Given the description of an element on the screen output the (x, y) to click on. 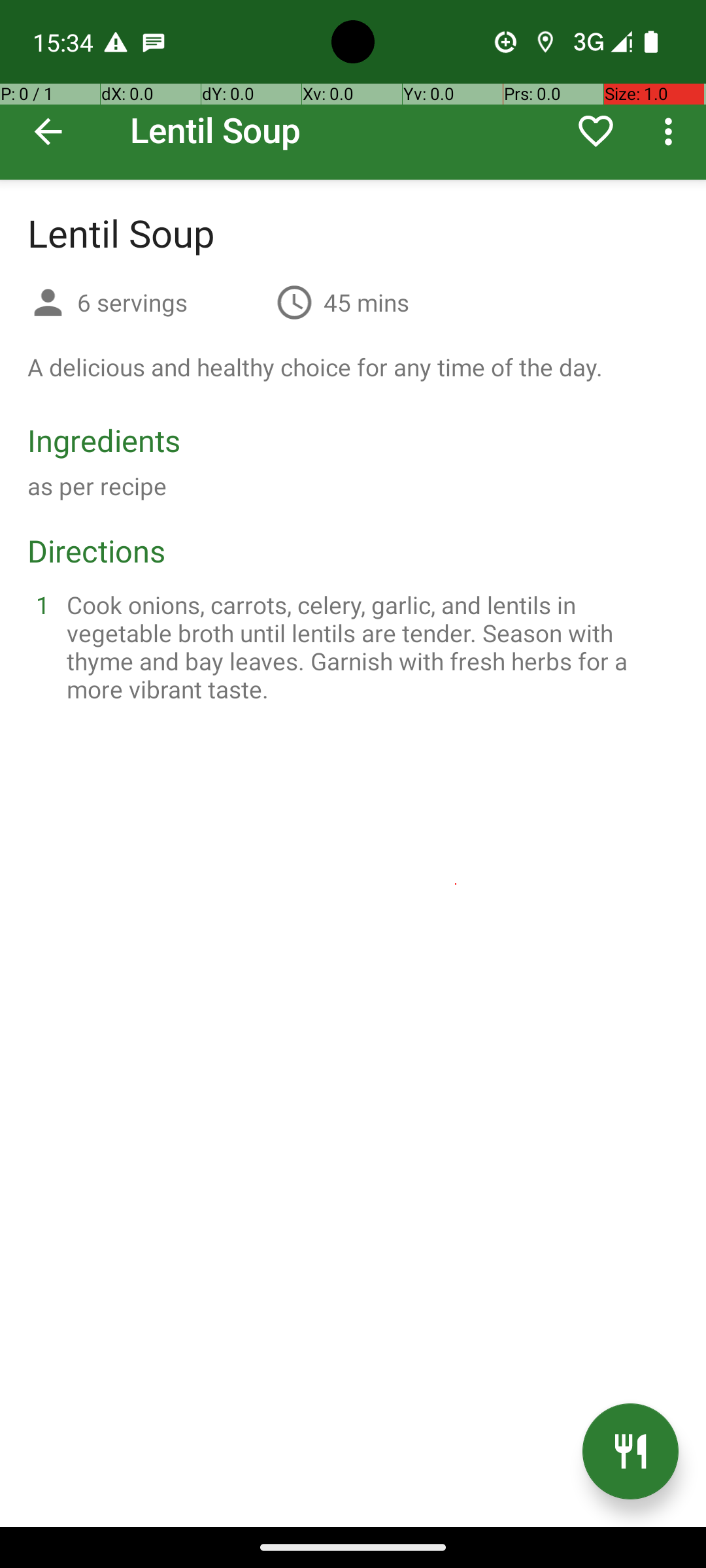
45 mins Element type: android.widget.TextView (366, 301)
as per recipe Element type: android.widget.TextView (96, 485)
Cook onions, carrots, celery, garlic, and lentils in vegetable broth until lentils are tender. Season with thyme and bay leaves. Garnish with fresh herbs for a more vibrant taste. Element type: android.widget.TextView (368, 646)
